Given the description of an element on the screen output the (x, y) to click on. 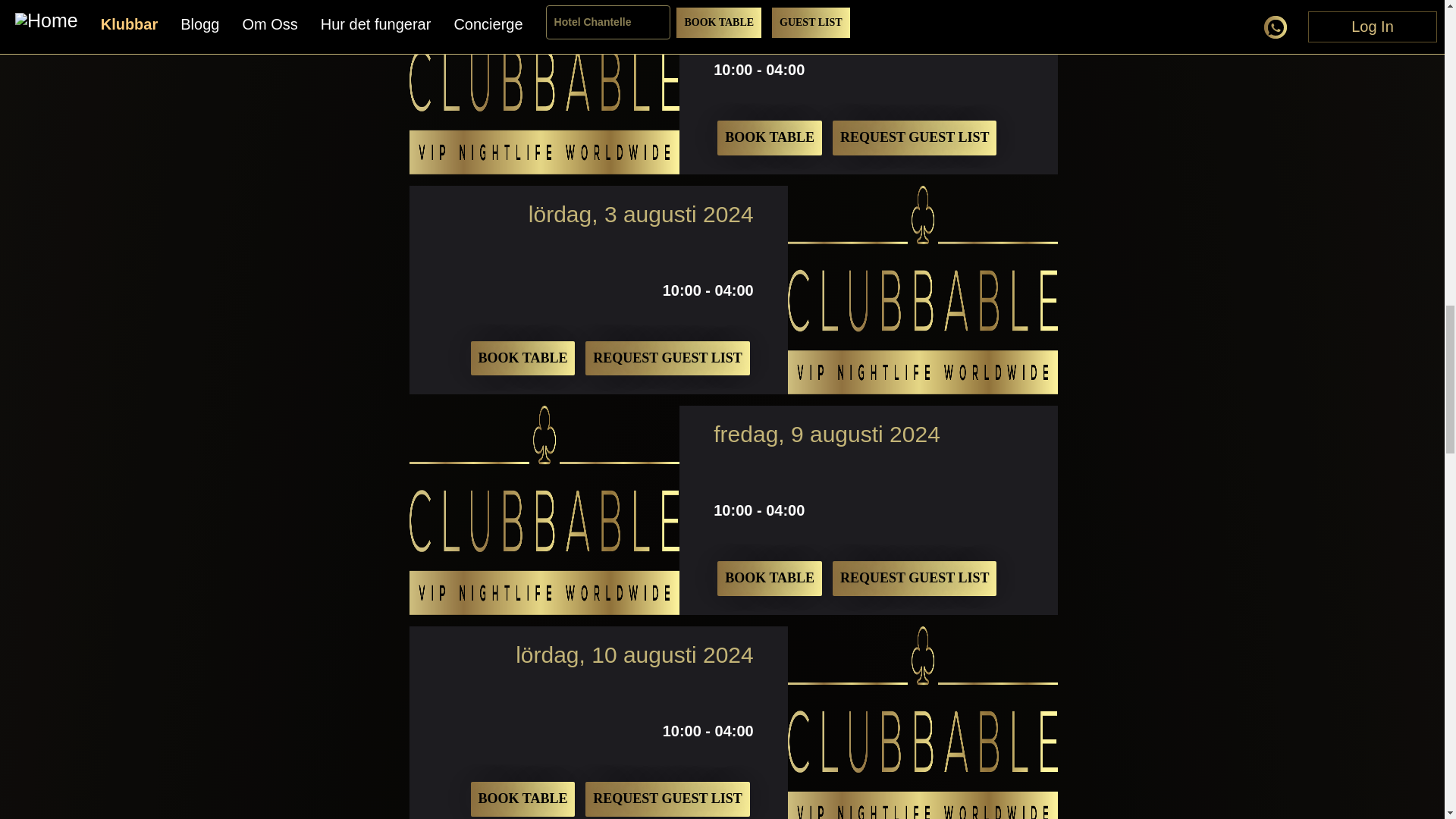
REQUEST GUEST LIST (913, 137)
REQUEST GUEST LIST (913, 578)
BOOK TABLE (769, 578)
REQUEST GUEST LIST (667, 358)
BOOK TABLE (522, 358)
BOOK TABLE (769, 137)
